Given the description of an element on the screen output the (x, y) to click on. 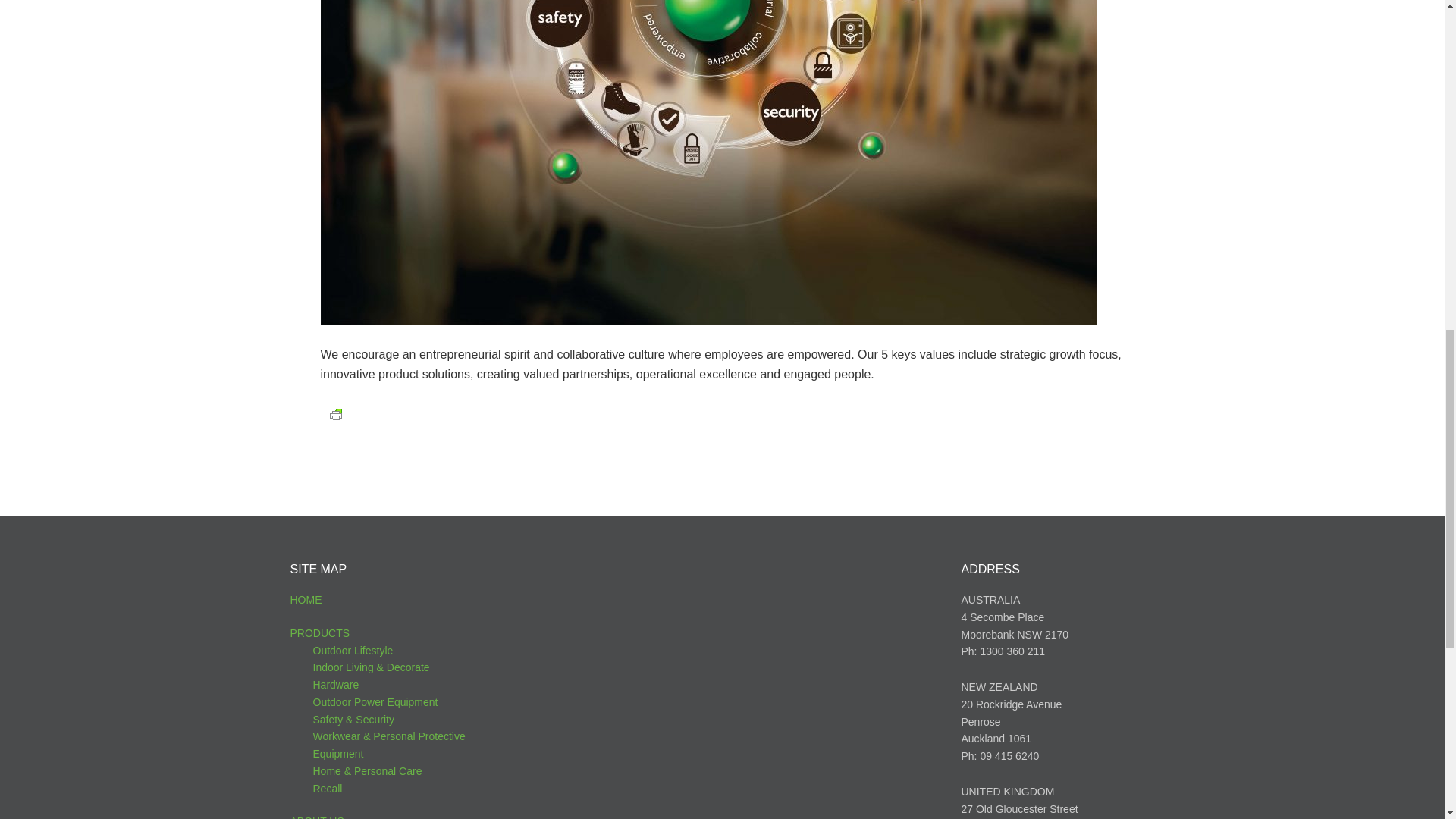
HOME (305, 599)
PRODUCTS (319, 633)
Hardware (335, 684)
Recall (327, 788)
Outdoor Lifestyle (353, 650)
ABOUT US (316, 816)
Outdoor Power Equipment (375, 702)
